Given the description of an element on the screen output the (x, y) to click on. 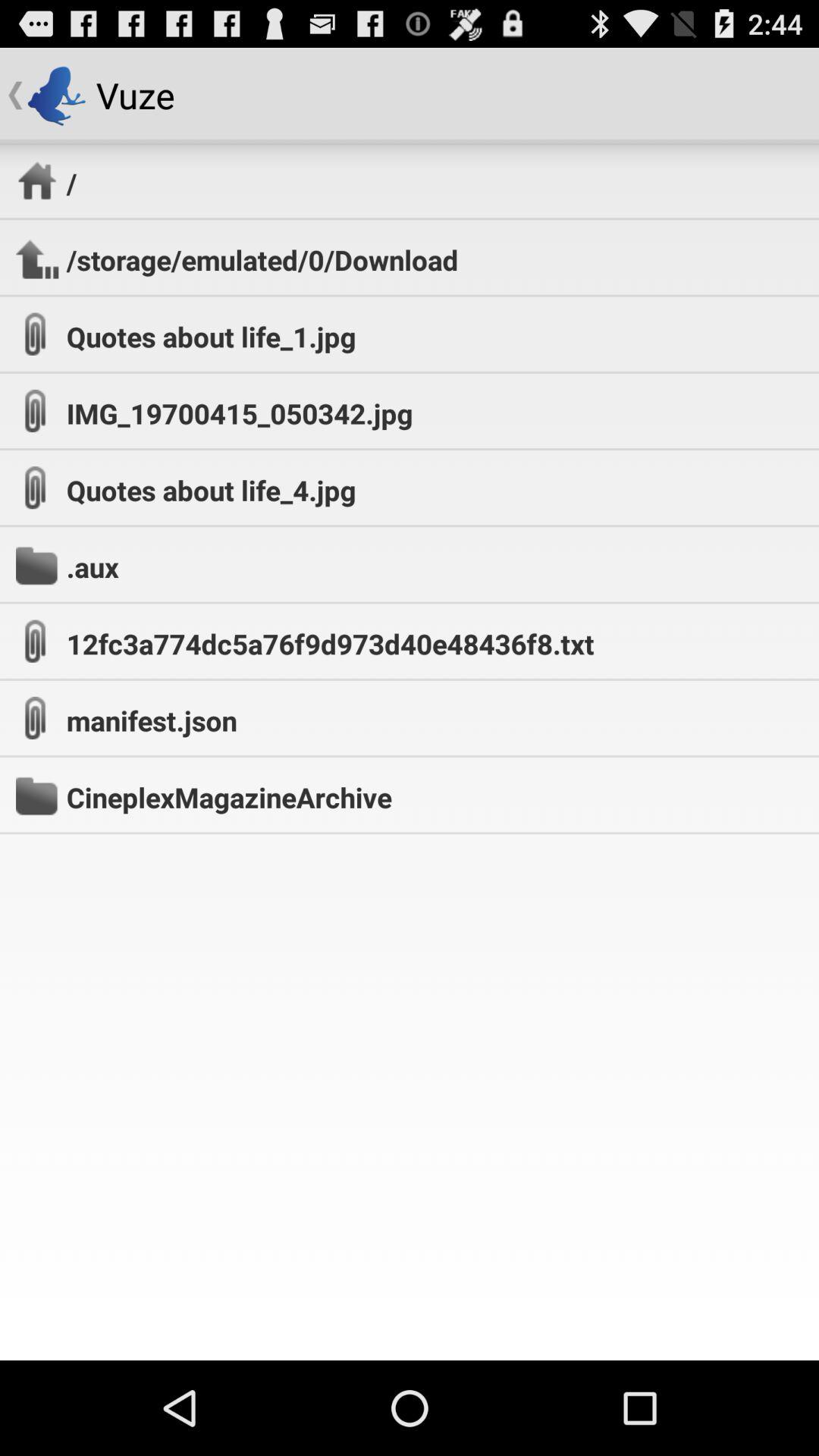
click storage emulated 0 (262, 259)
